Given the description of an element on the screen output the (x, y) to click on. 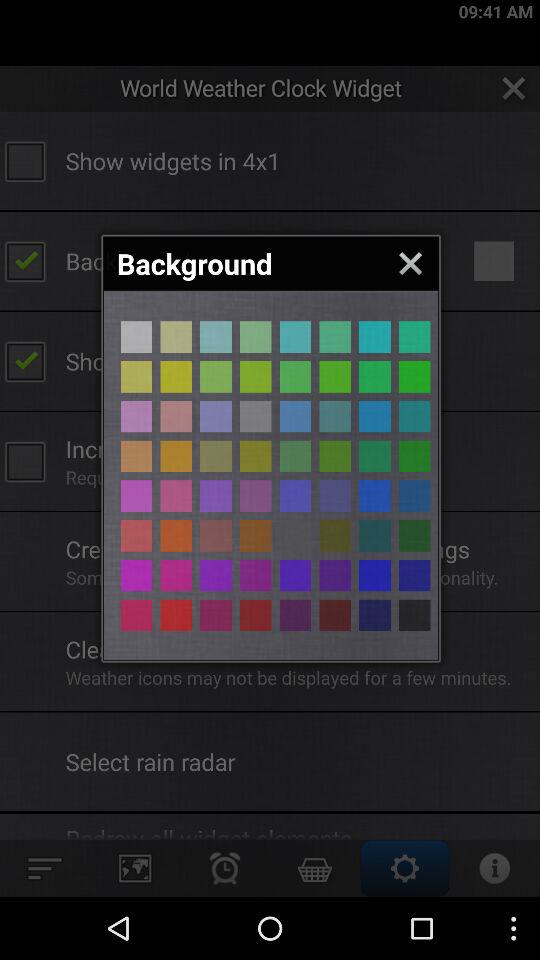
the button is used to color option (295, 535)
